Given the description of an element on the screen output the (x, y) to click on. 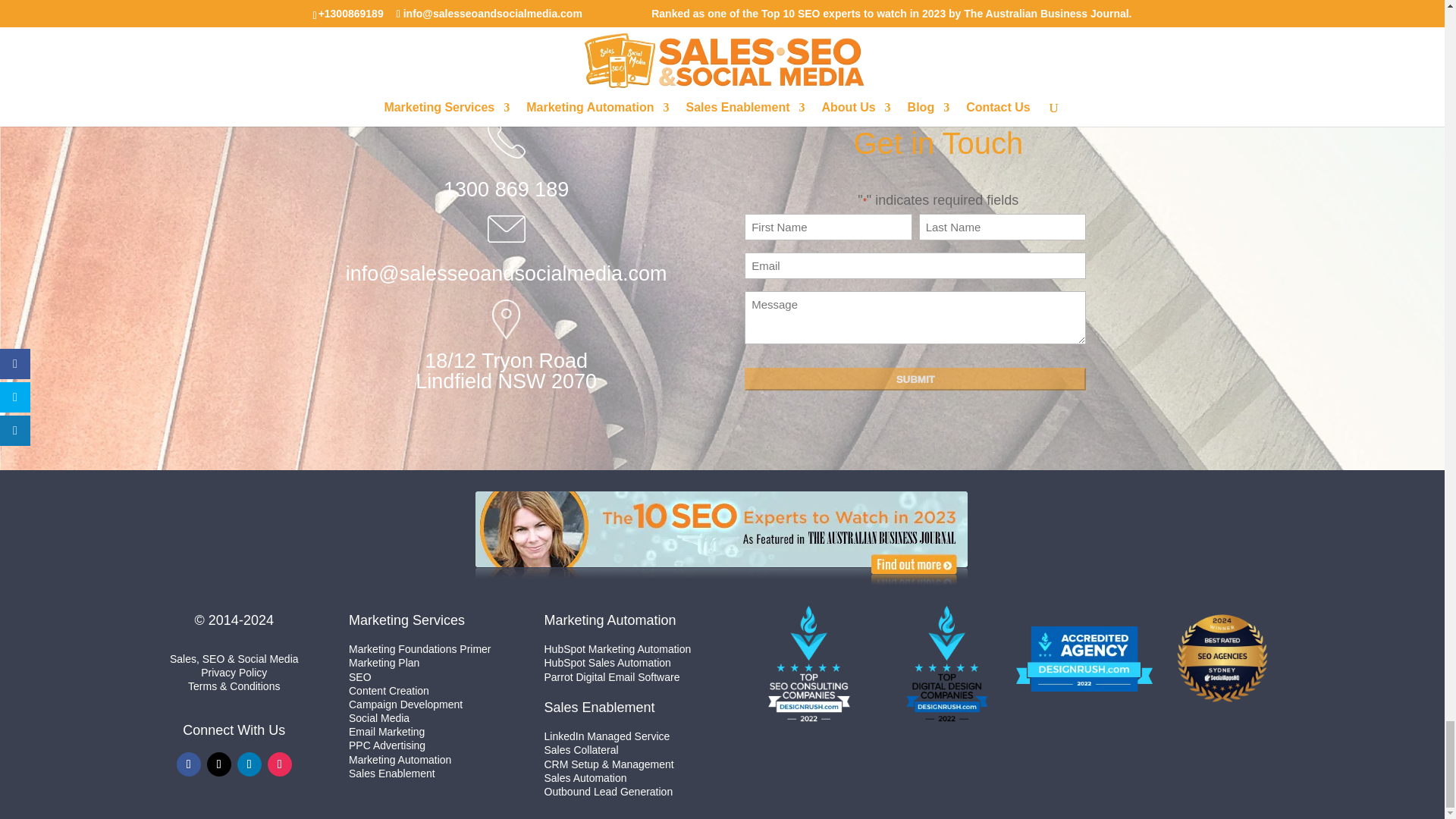
Follow on LinkedIn (249, 764)
Follow on Facebook (188, 764)
Follow on Instagram (279, 764)
SUBMIT (915, 378)
Follow on Twitter (218, 764)
